Given the description of an element on the screen output the (x, y) to click on. 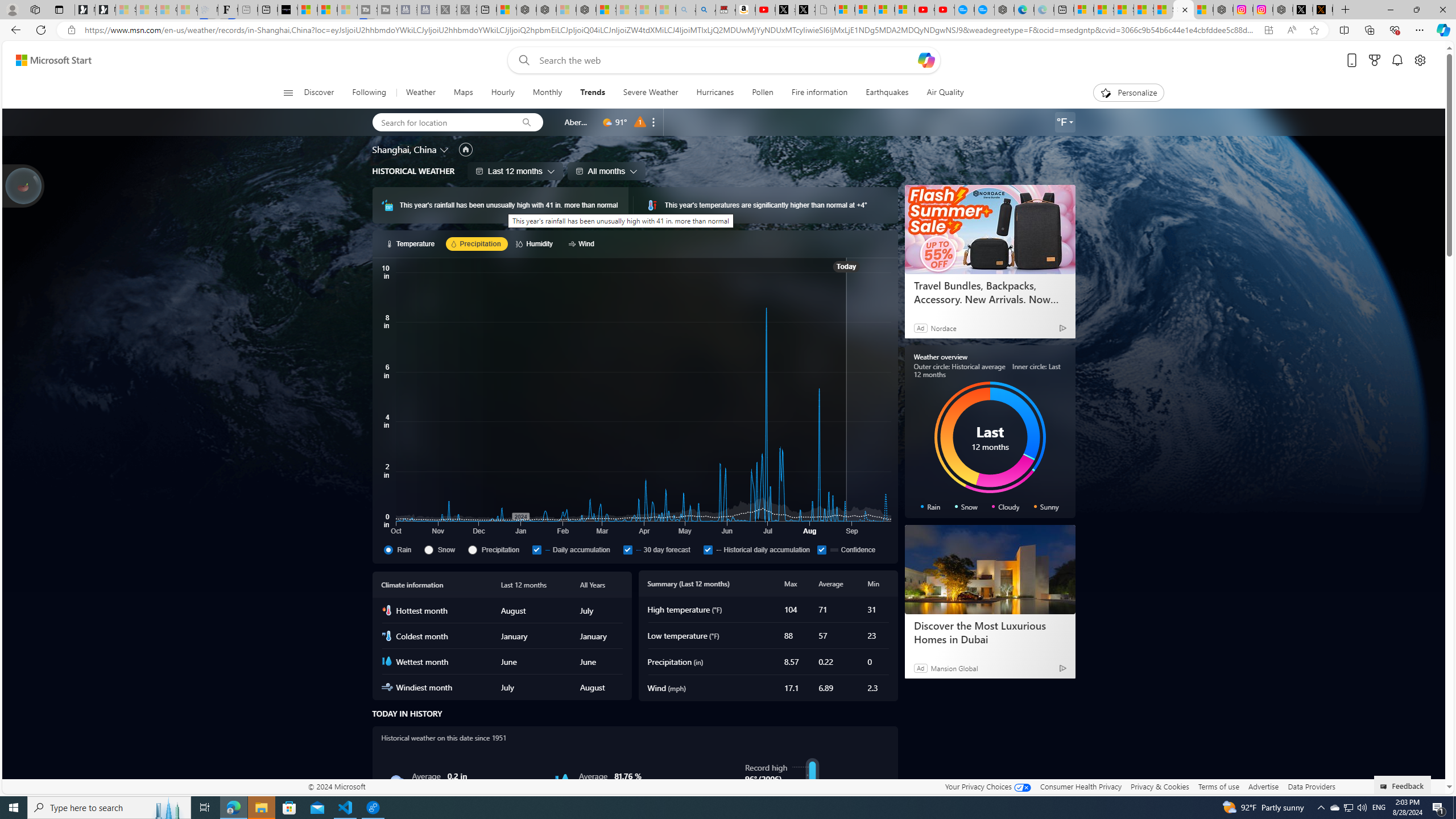
Earthquakes (887, 92)
Monthly (547, 92)
Your Privacy Choices (987, 786)
Skip to footer (46, 59)
